Given the description of an element on the screen output the (x, y) to click on. 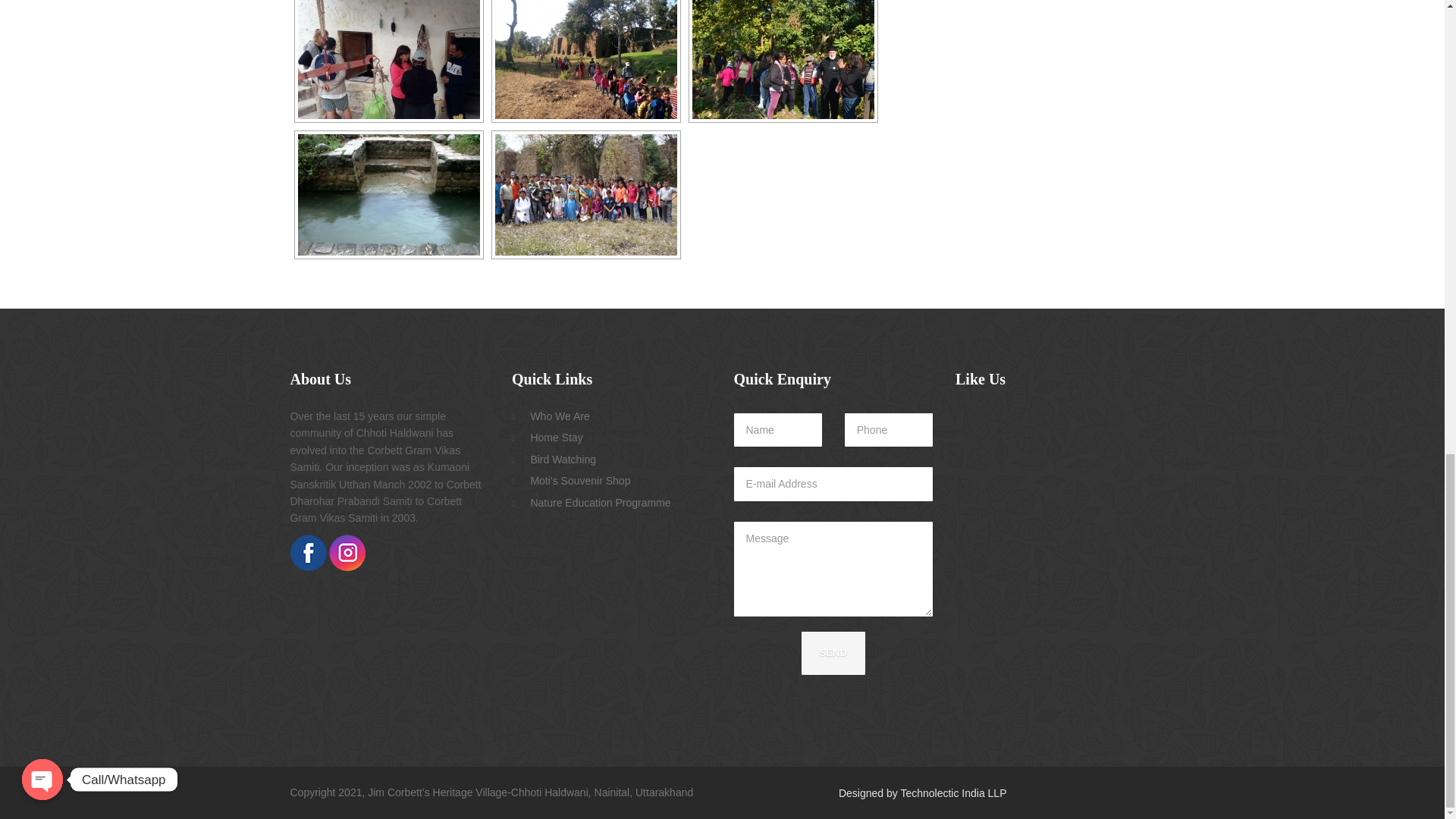
Send (833, 652)
